Given the description of an element on the screen output the (x, y) to click on. 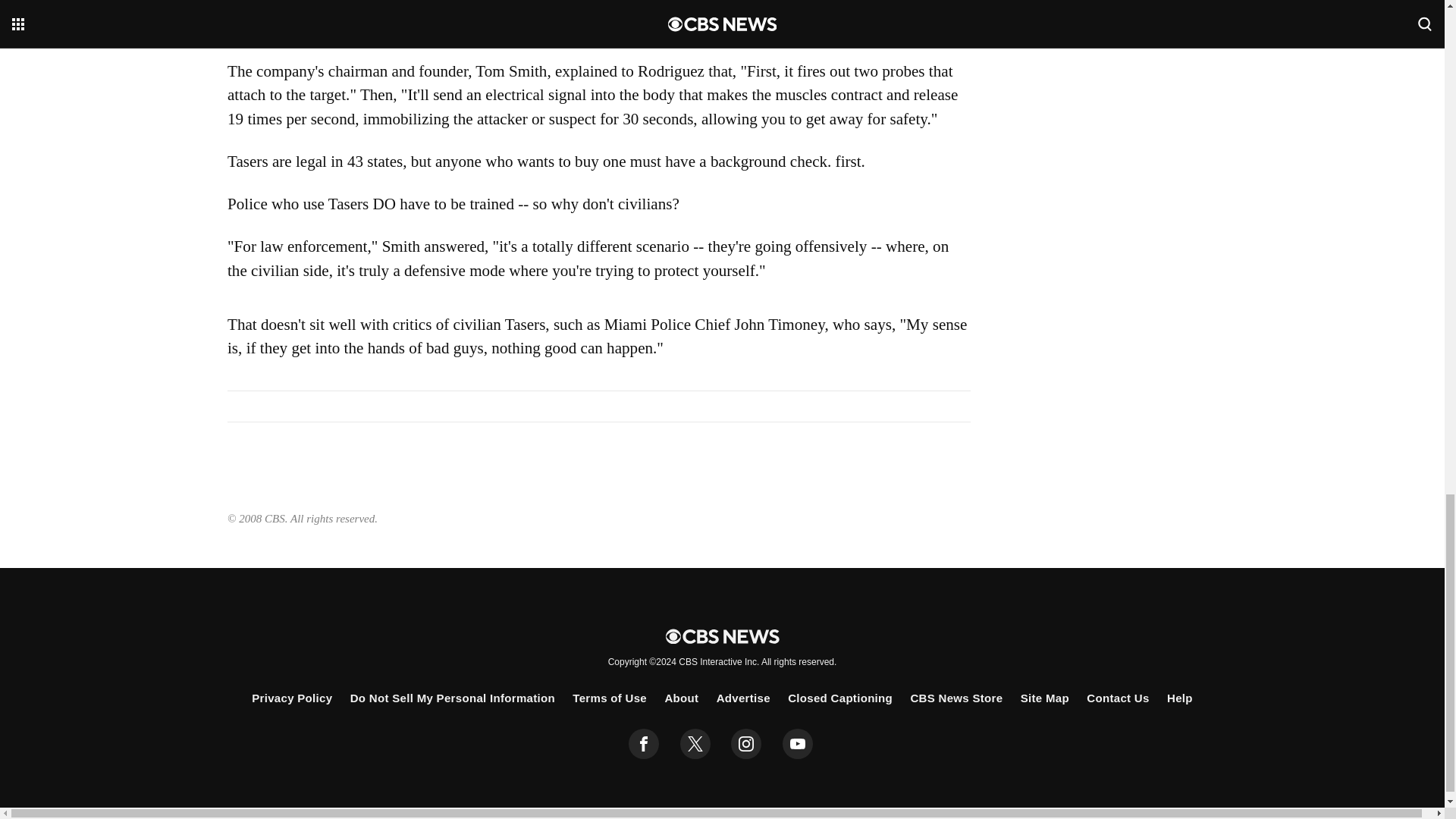
youtube (797, 743)
instagram (745, 743)
twitter (694, 743)
facebook (643, 743)
